Given the description of an element on the screen output the (x, y) to click on. 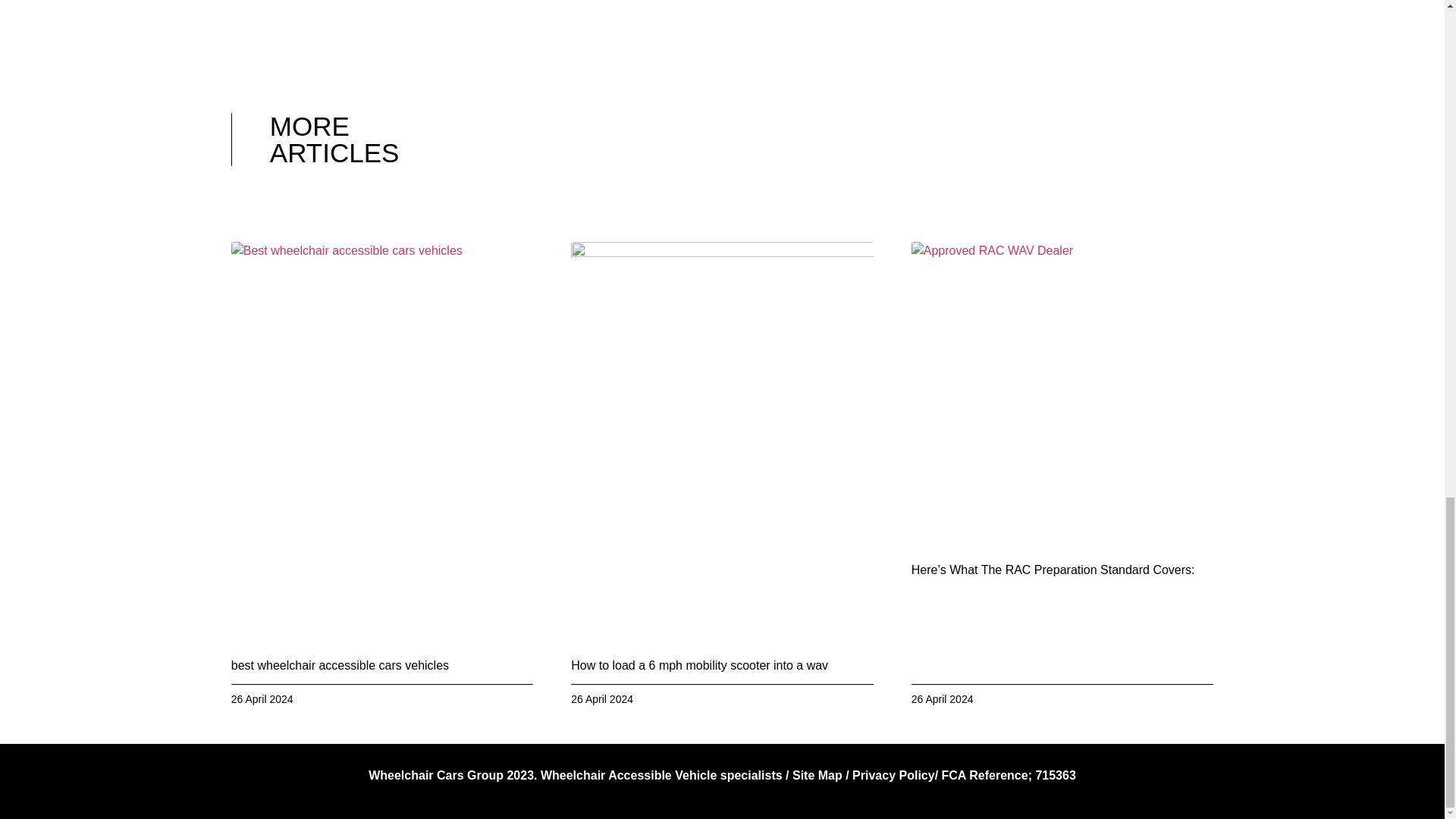
best wheelchair accessible cars vehicles (339, 665)
How to load a 6 mph mobility scooter into a wav (699, 665)
Privacy Policy (892, 775)
Site Map (817, 775)
